Given the description of an element on the screen output the (x, y) to click on. 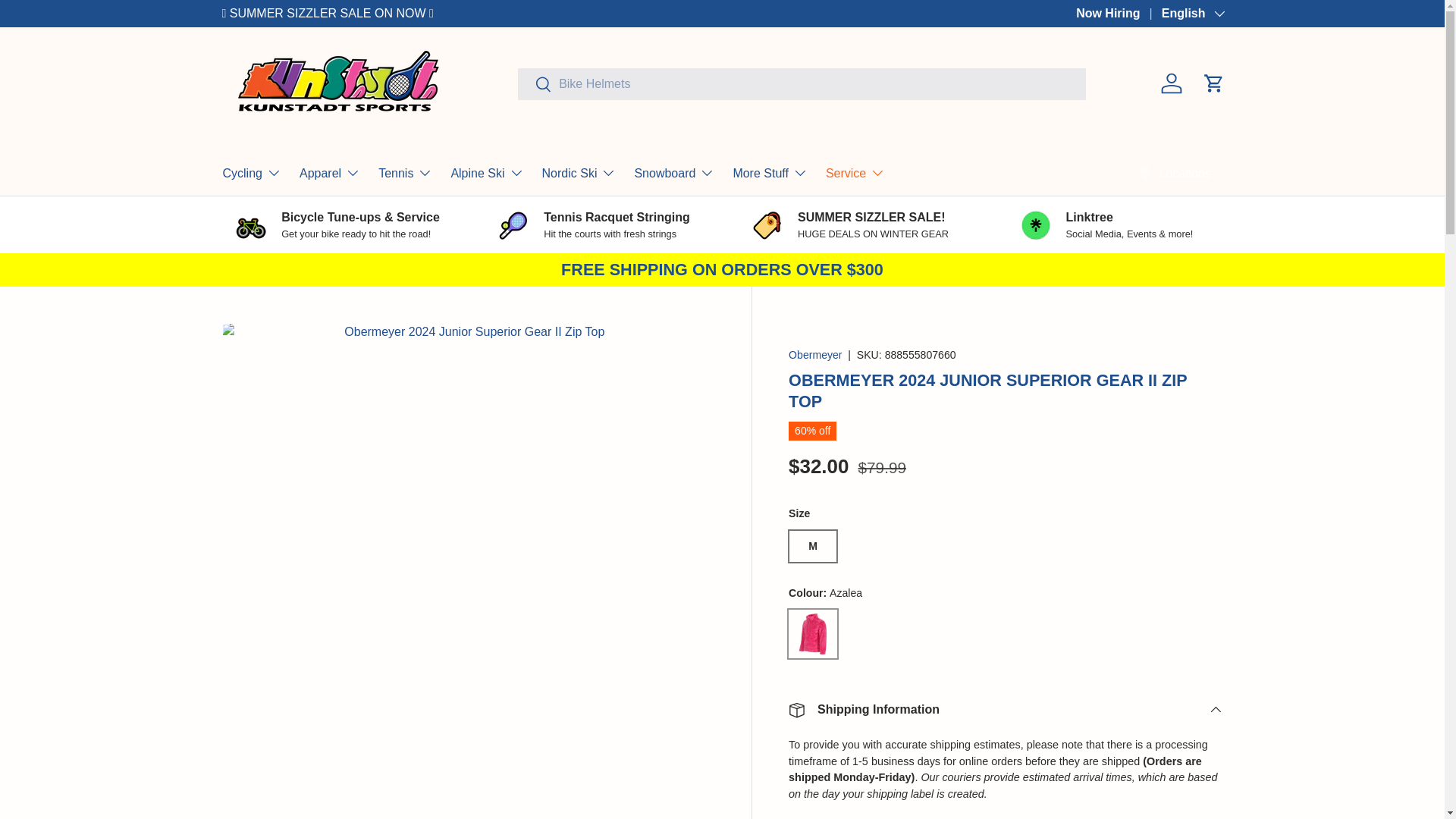
Cart (1213, 82)
Search (534, 84)
Now Hiring (1118, 13)
Log in (1171, 82)
Summer Sizzler Ski Sale (329, 12)
English (1192, 13)
Contact Us (1107, 12)
Cycling (251, 173)
CONTACT US (1107, 12)
SUMMER SIZZLER SALE ON NOW (329, 12)
SKIP TO CONTENT (68, 21)
